Given the description of an element on the screen output the (x, y) to click on. 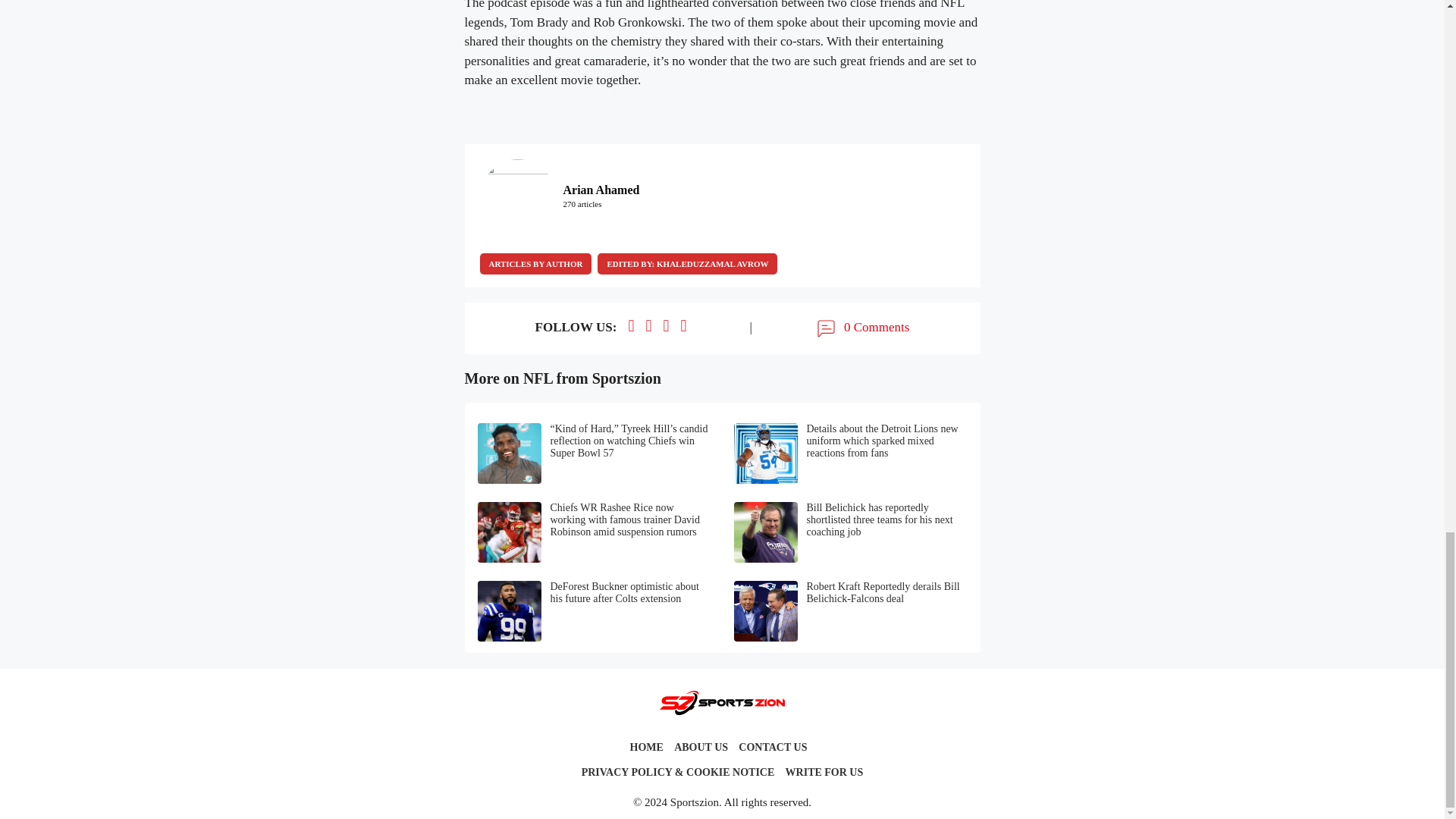
EDITED BY: KHALEDUZZAMAL AVROW (686, 263)
0 Comments (861, 328)
Robert Kraft Reportedly derails Bill Belichick-Falcons deal (850, 610)
ARTICLES BY AUTHOR (535, 263)
